Given the description of an element on the screen output the (x, y) to click on. 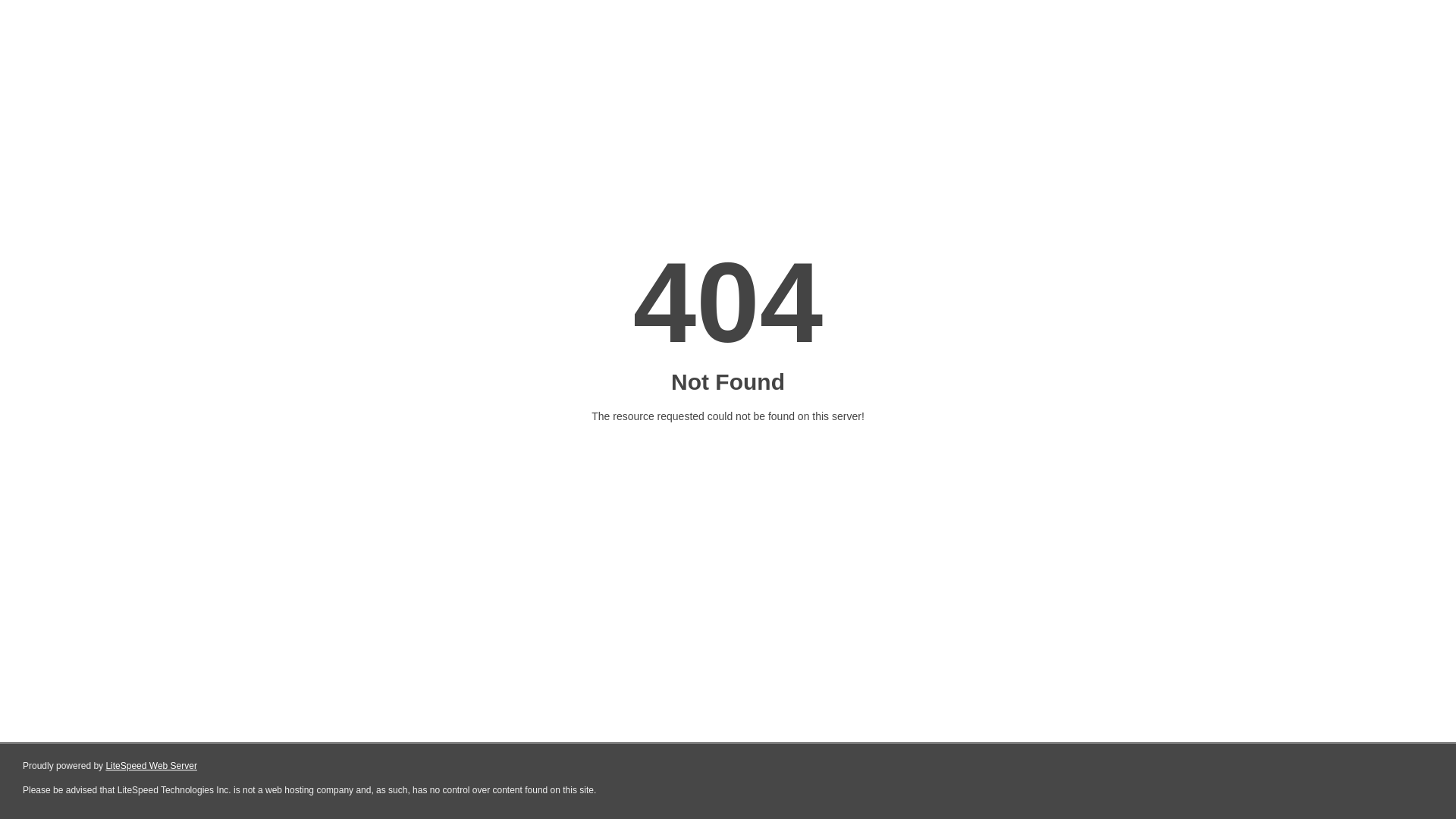
LiteSpeed Web Server Element type: text (151, 765)
